Given the description of an element on the screen output the (x, y) to click on. 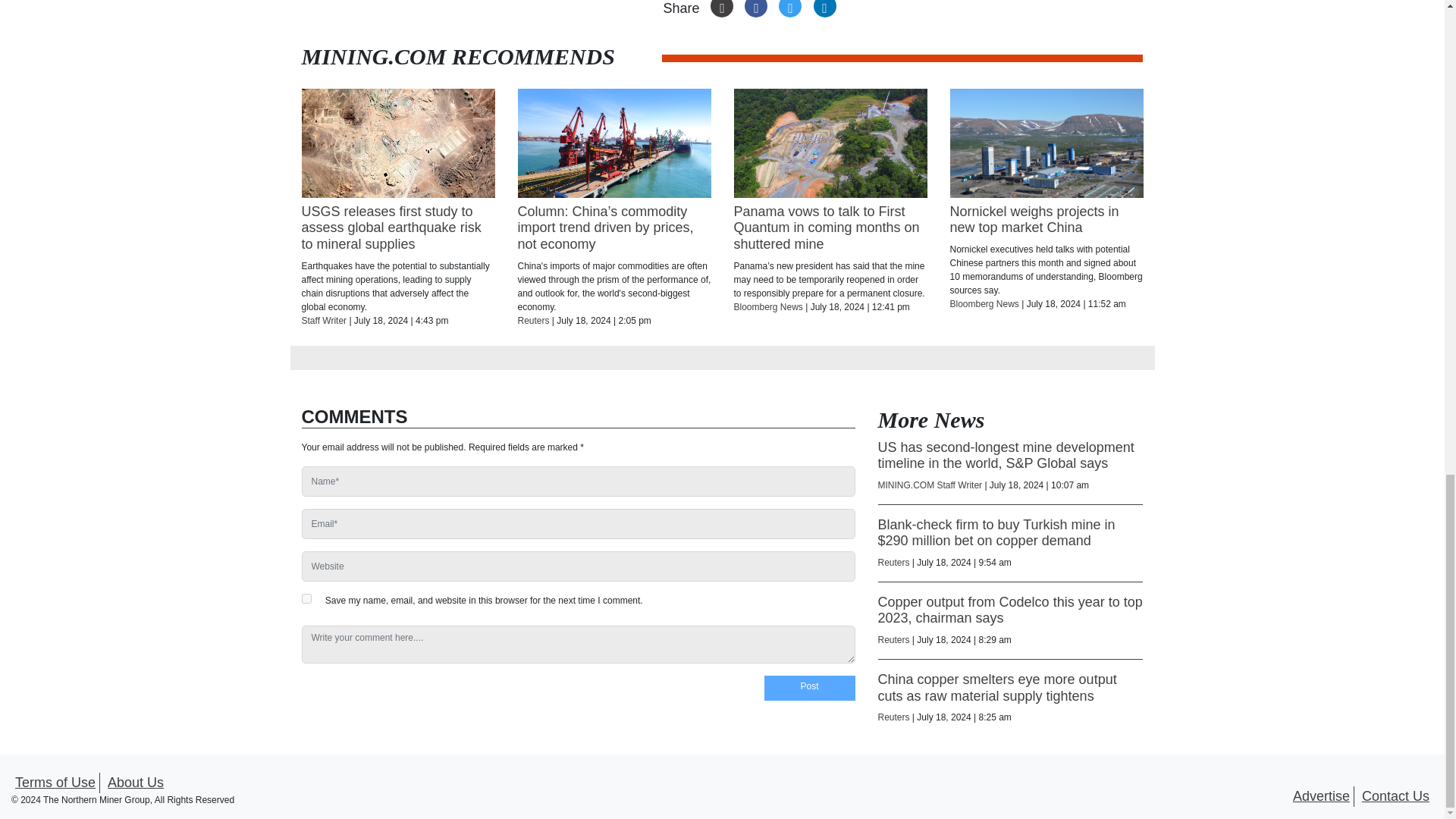
Post (810, 688)
yes (306, 598)
